Given the description of an element on the screen output the (x, y) to click on. 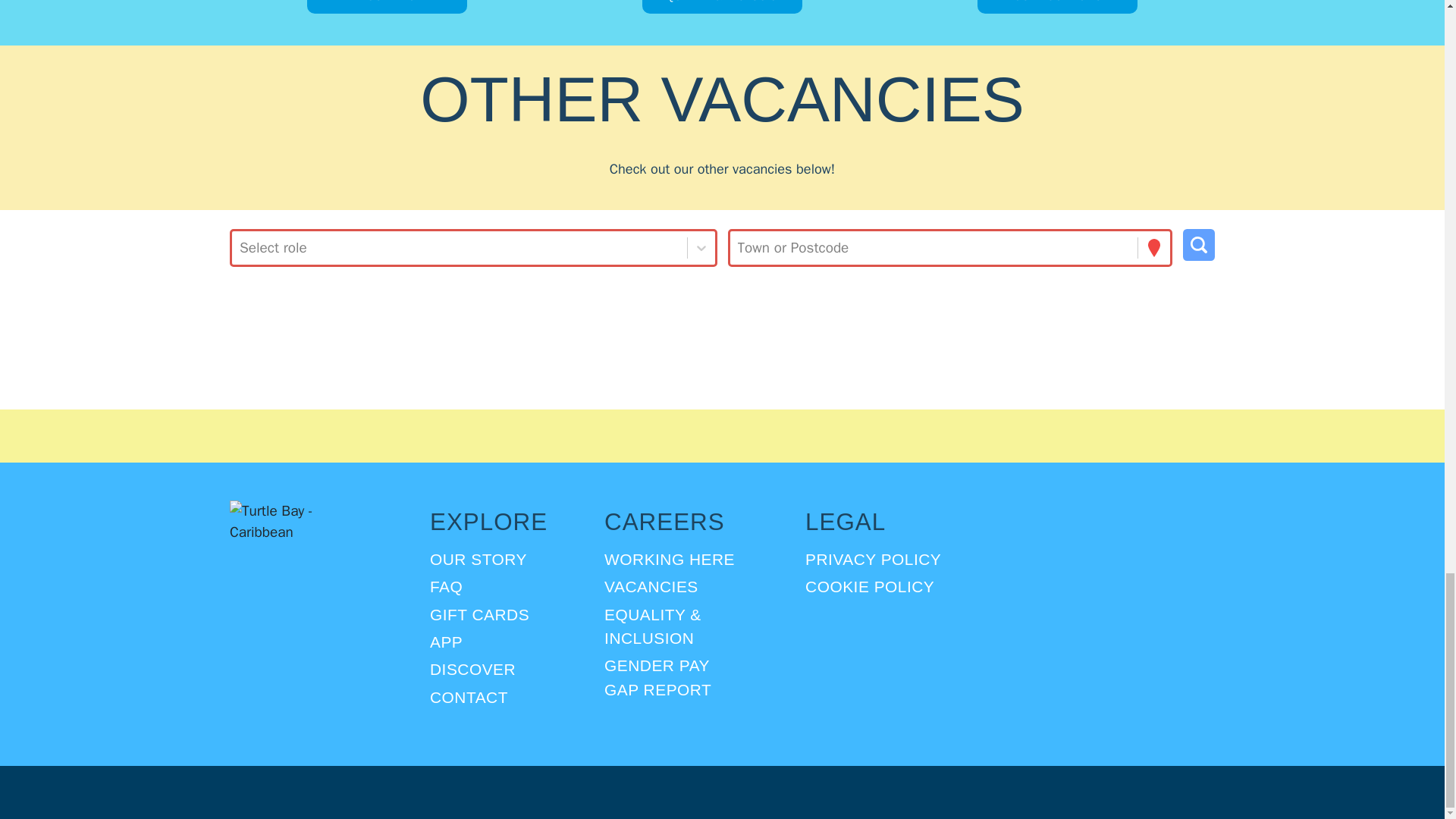
spotify (740, 436)
DISCOVER (488, 668)
PRIVACY POLICY (872, 558)
OUR LOCATIONS (1056, 6)
CONTACT (488, 697)
instagram (665, 436)
OUR STORY (488, 558)
tiktok (778, 436)
facebook (702, 436)
twitter (740, 792)
youtube (778, 792)
WHY YOU'LL LOVE IT (387, 6)
COOKIE POLICY (872, 586)
APP (488, 641)
linkedin (665, 792)
